Given the description of an element on the screen output the (x, y) to click on. 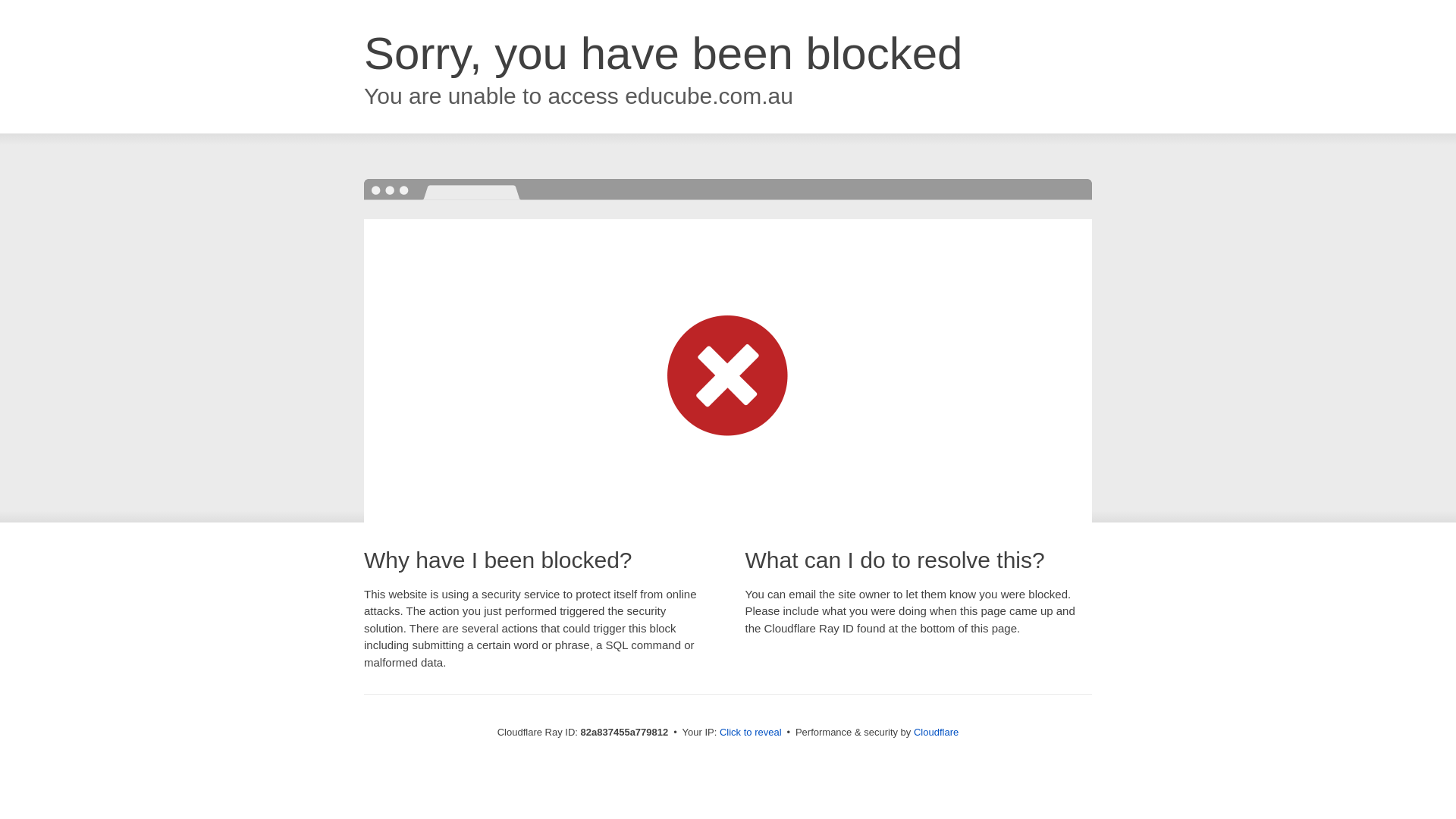
Cloudflare Element type: text (935, 731)
Click to reveal Element type: text (750, 732)
